Given the description of an element on the screen output the (x, y) to click on. 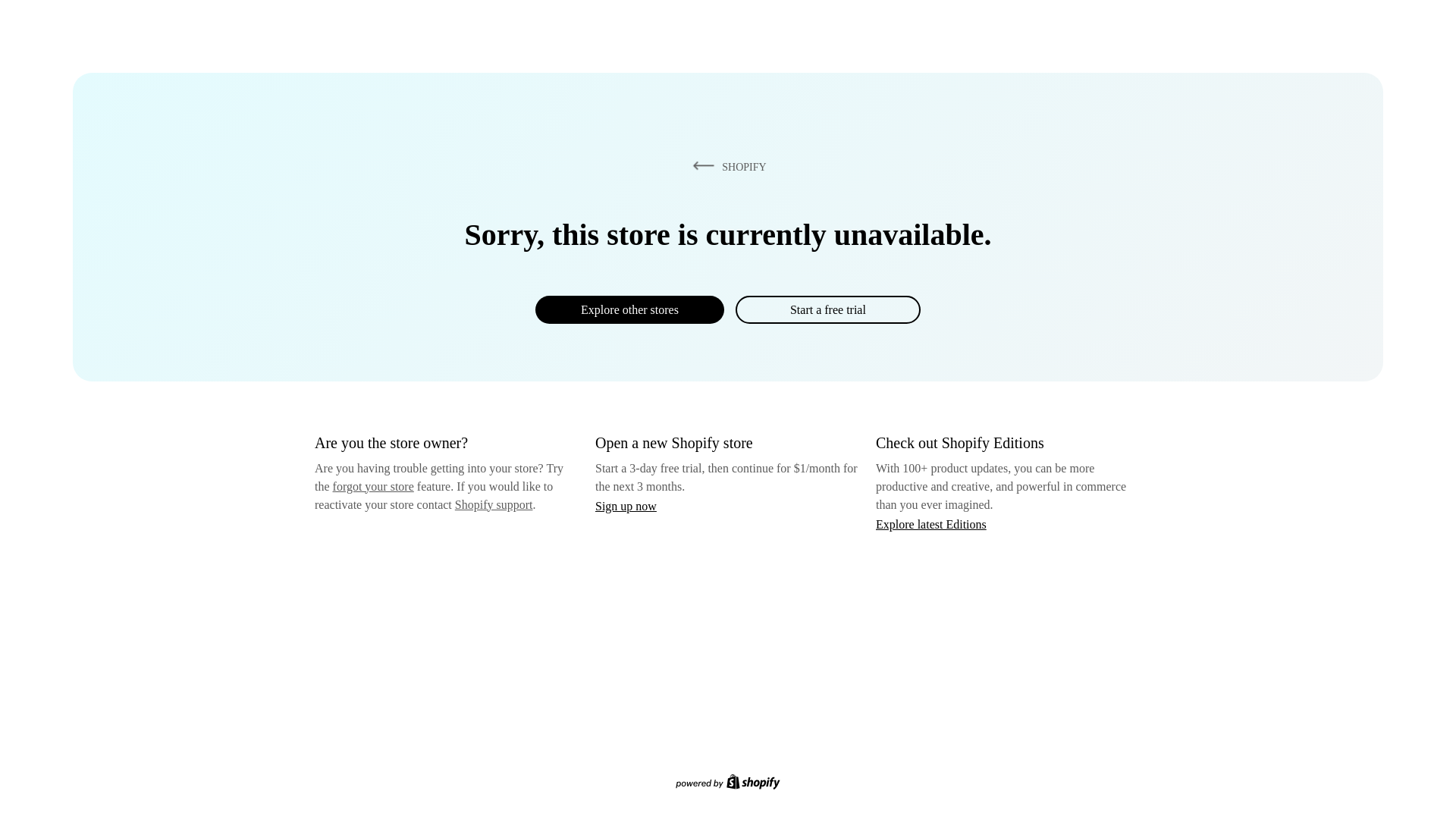
forgot your store (373, 486)
Explore other stores (629, 309)
Explore latest Editions (931, 523)
SHOPIFY (726, 166)
Start a free trial (827, 309)
Sign up now (625, 505)
Shopify support (493, 504)
